Given the description of an element on the screen output the (x, y) to click on. 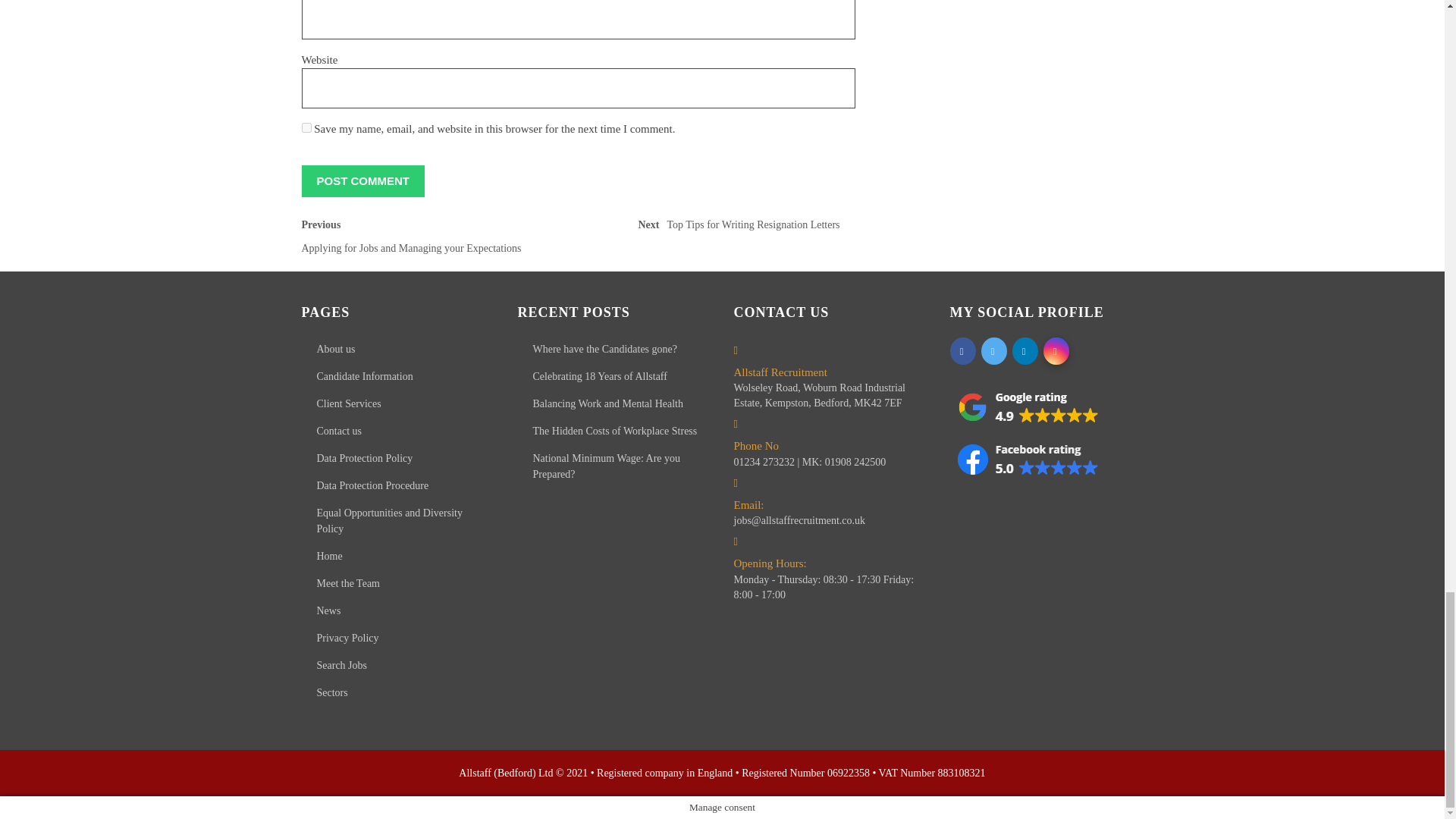
Post Comment (363, 180)
yes (306, 127)
Post Comment (435, 240)
